Given the description of an element on the screen output the (x, y) to click on. 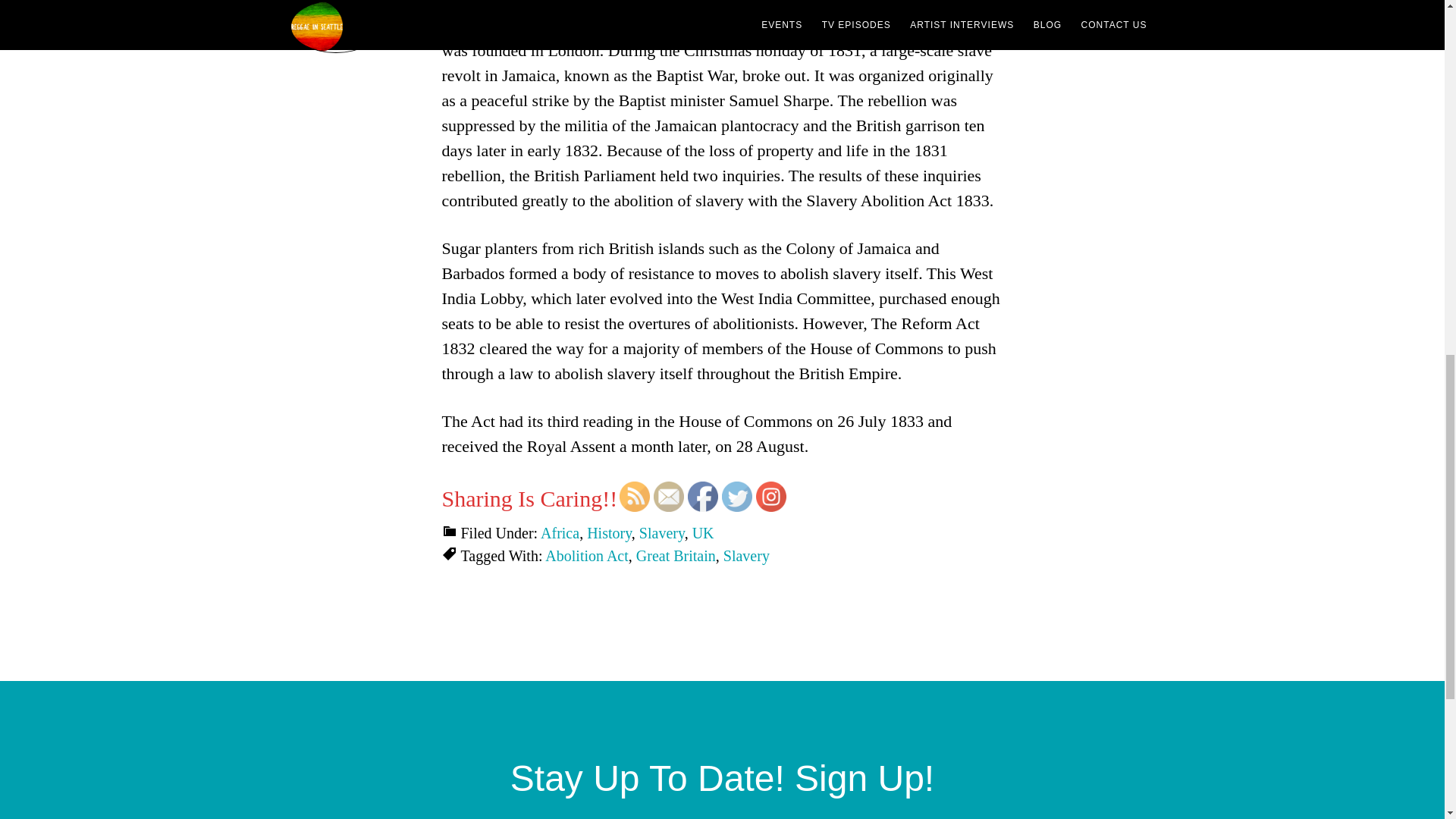
History (608, 532)
Slavery (746, 555)
Slavery (661, 532)
Africa (559, 532)
UK (703, 532)
Abolition Act (585, 555)
Great Britain (676, 555)
